Given the description of an element on the screen output the (x, y) to click on. 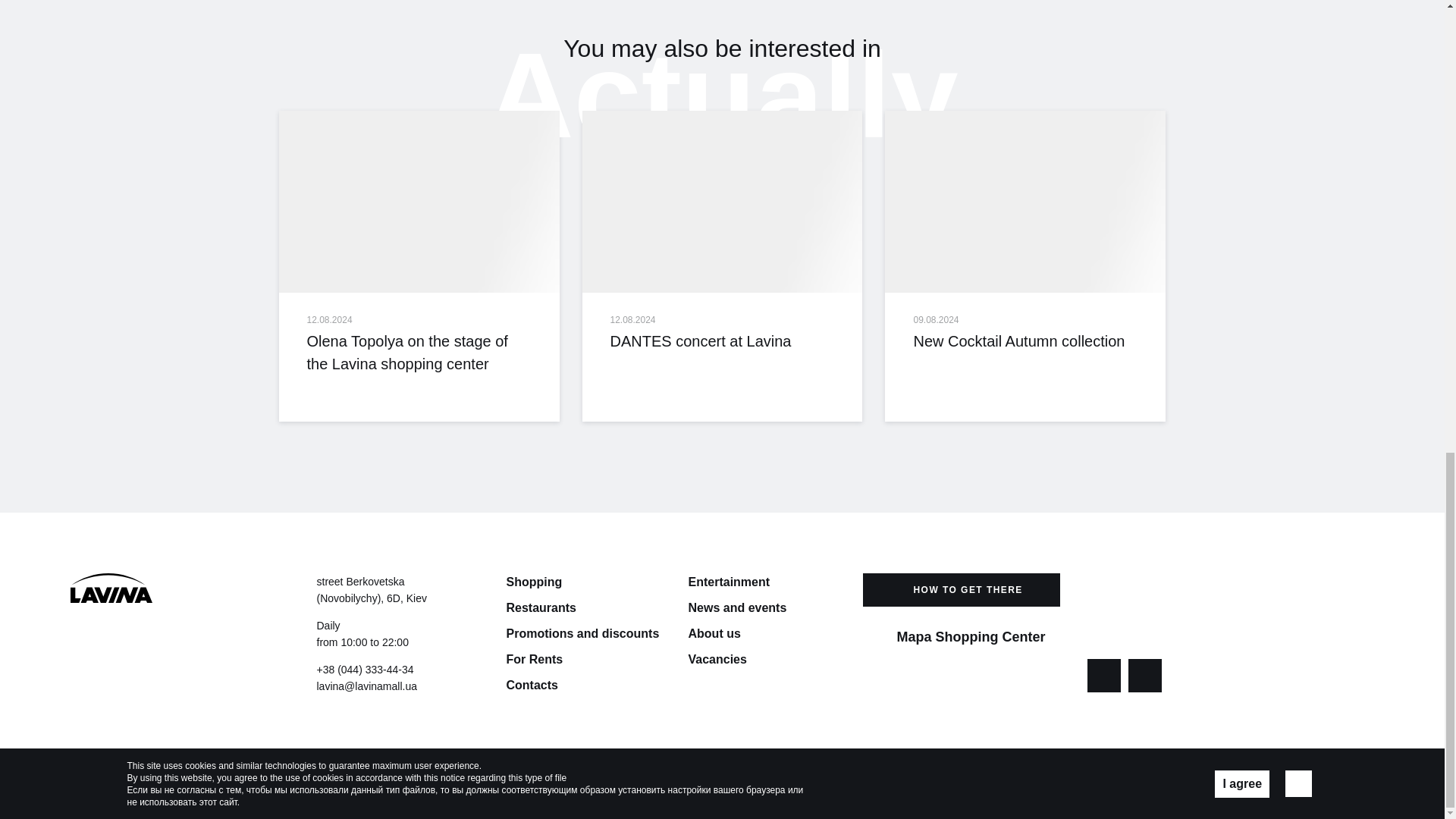
DANTES concert at Lavina (722, 201)
New Cocktail Autumn collection (1024, 341)
Go to page Facebook (1104, 675)
Go to page Instagram (1144, 675)
Olena Topolya on the stage of the Lavina shopping center (418, 352)
Olena Topolya on the stage of the Lavina shopping center (419, 201)
DANTES concert at Lavina (722, 341)
New Cocktail Autumn collection (1025, 201)
